Given the description of an element on the screen output the (x, y) to click on. 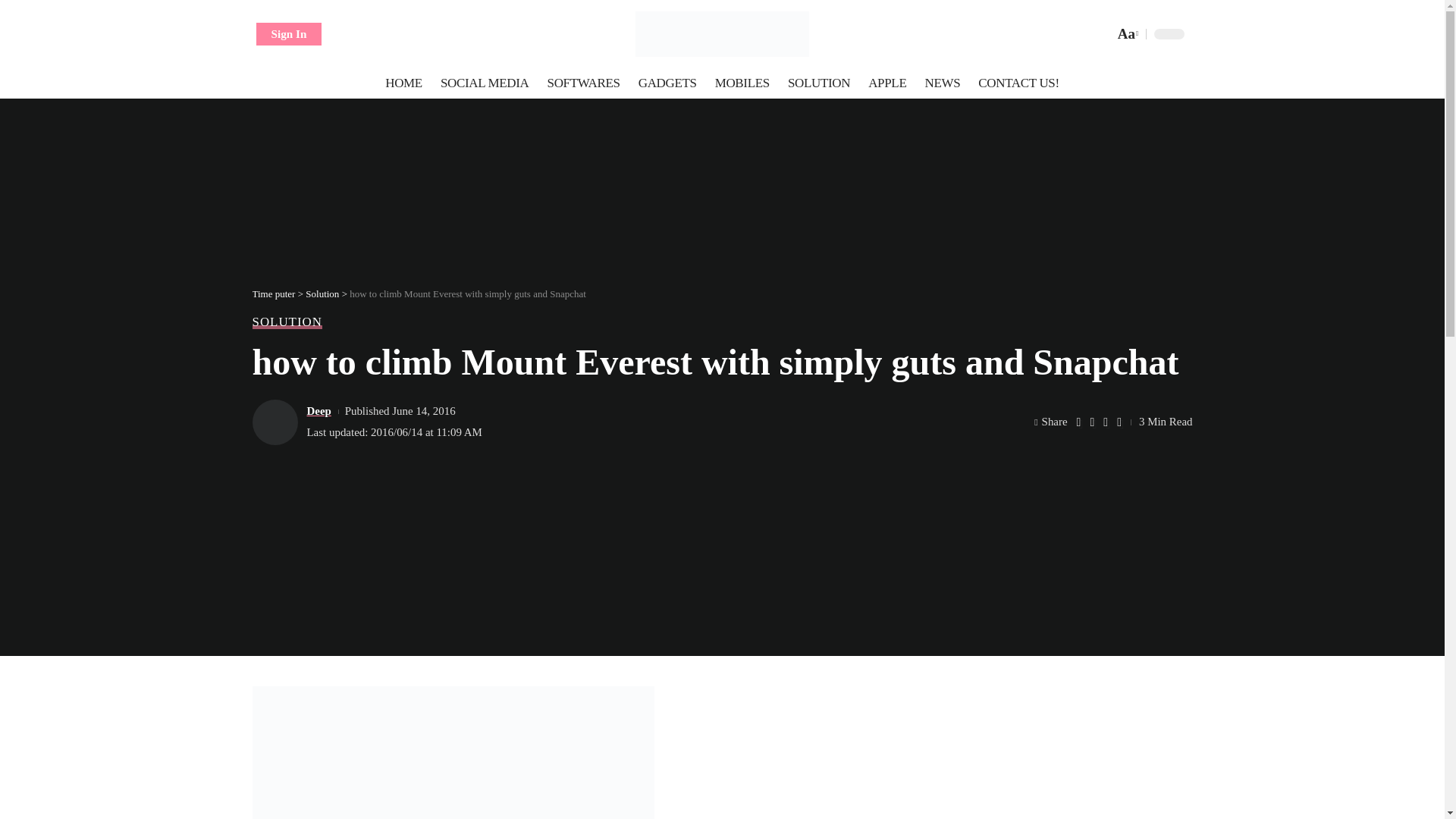
Aa (1125, 33)
NEWS (942, 82)
GADGETS (667, 82)
APPLE (887, 82)
SOLUTION (286, 322)
SOFTWARES (583, 82)
Time puter (273, 293)
SOCIAL MEDIA (484, 82)
Time puter (721, 33)
SOLUTION (818, 82)
MOBILES (742, 82)
HOME (402, 82)
Go to Time puter. (273, 293)
Solution (322, 293)
Sign In (288, 33)
